Given the description of an element on the screen output the (x, y) to click on. 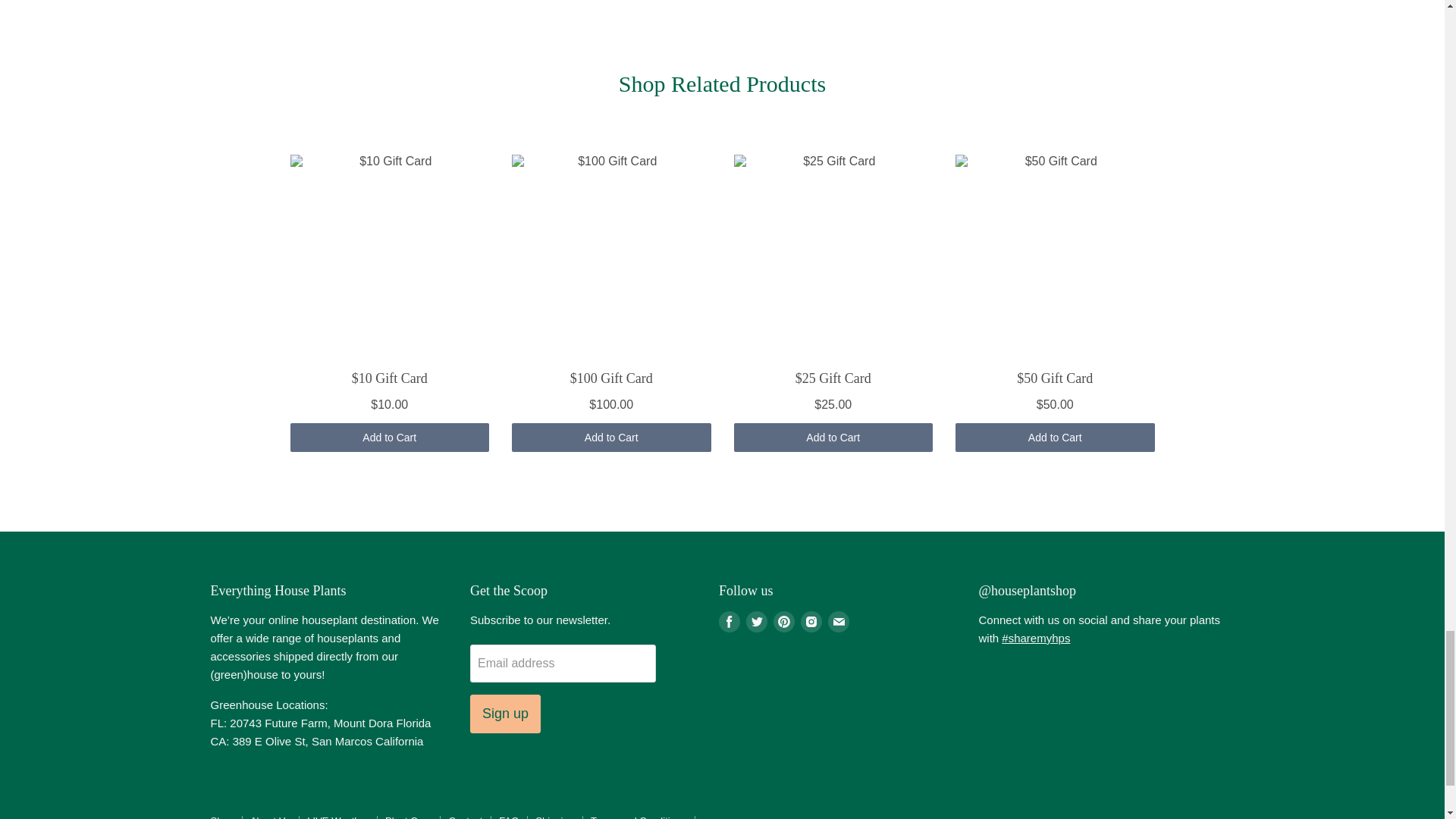
E-mail (838, 621)
Facebook (729, 621)
Pinterest (783, 621)
Twitter (756, 621)
Instagram (811, 621)
